Given the description of an element on the screen output the (x, y) to click on. 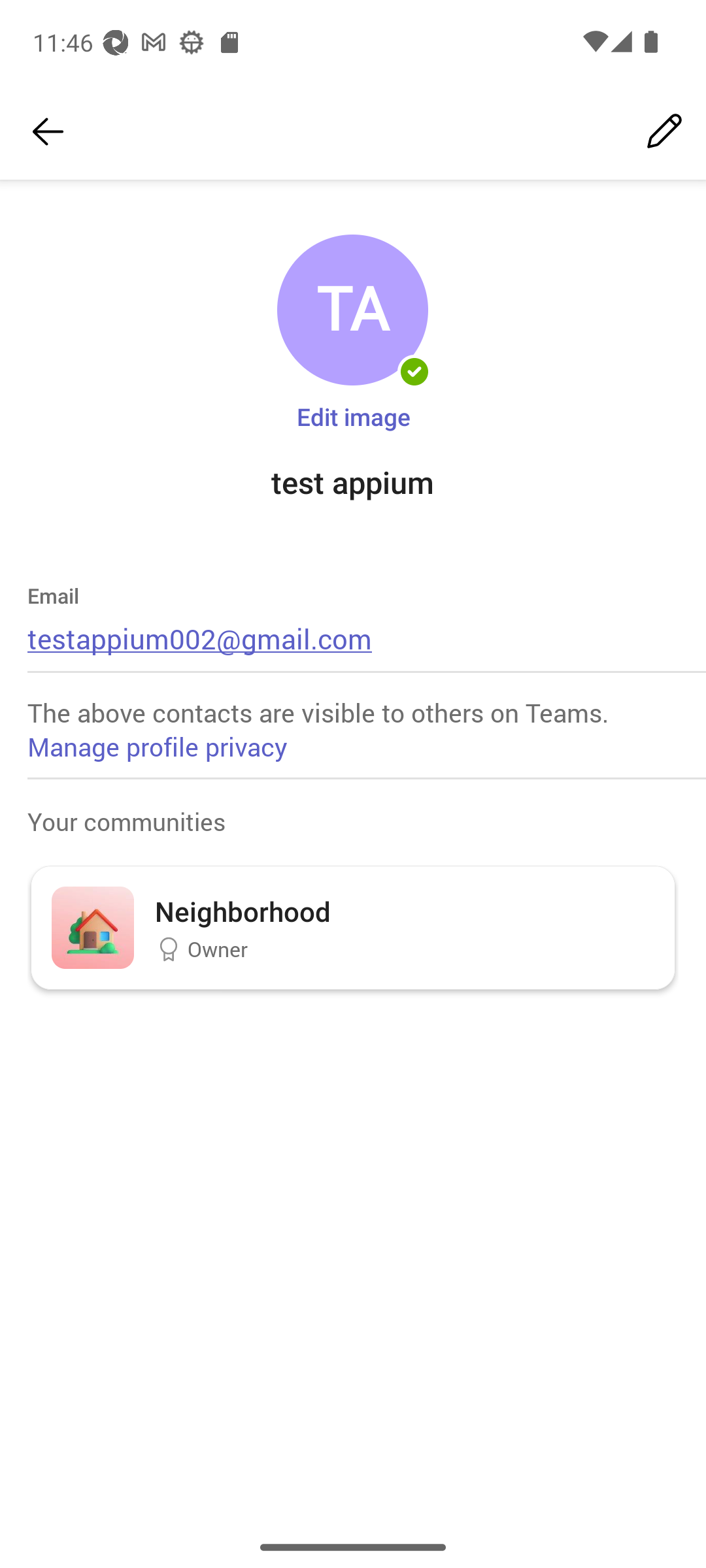
Back (48, 131)
Edit display name (664, 131)
test appium profile picture, Status: Available (352, 310)
Edit image (352, 415)
testappium002@gmail.com (199, 637)
